Given the description of an element on the screen output the (x, y) to click on. 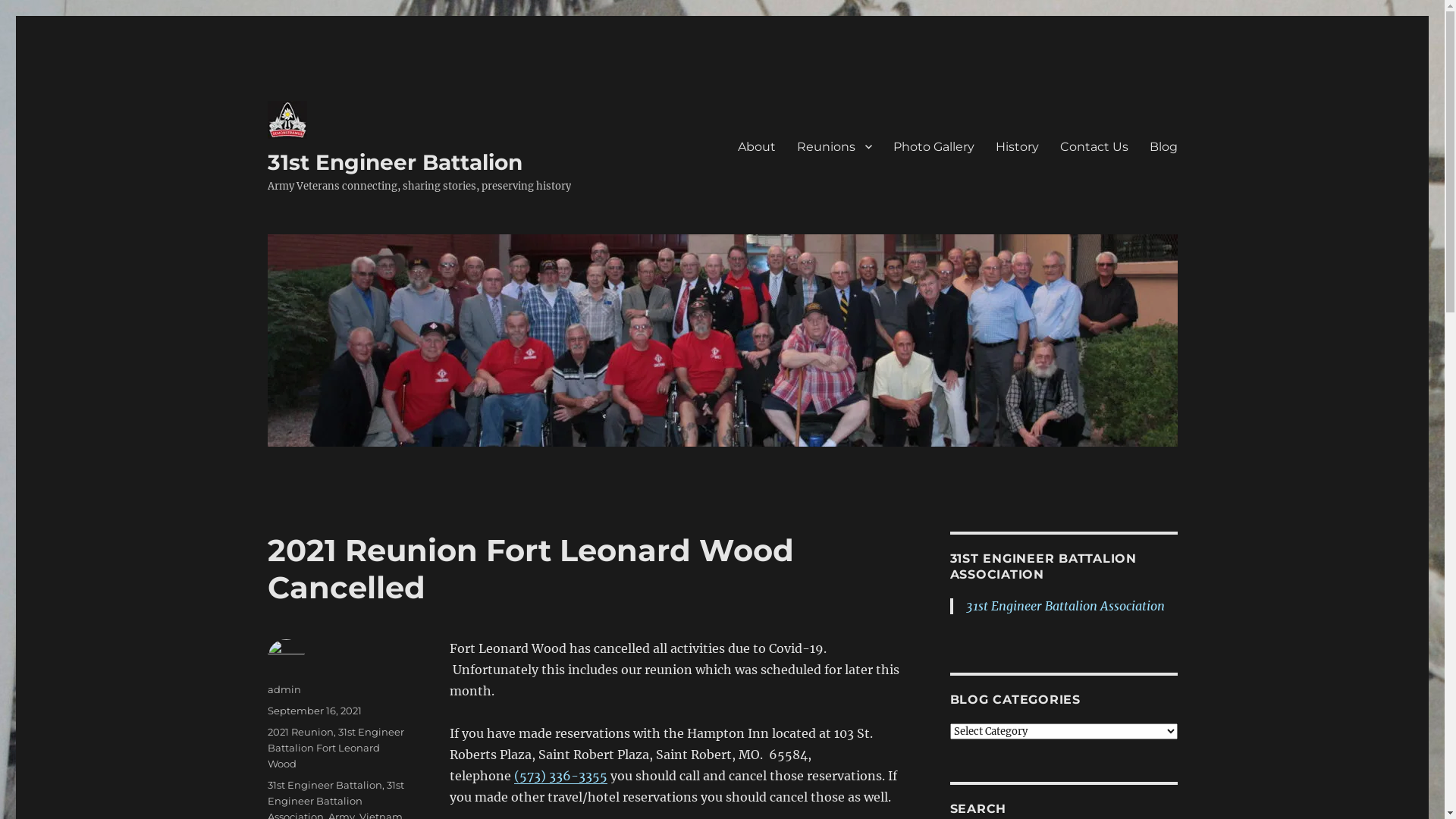
Photo Gallery Element type: text (933, 146)
31st Engineer Battalion Association Element type: text (1065, 605)
admin Element type: text (283, 689)
31ST ENGINEER BATTALION ASSOCIATION Element type: text (1042, 566)
Contact Us Element type: text (1094, 146)
2021 Reunion Element type: text (299, 731)
Blog Element type: text (1163, 146)
31st Engineer Battalion Element type: text (323, 784)
About Element type: text (755, 146)
31st Engineer Battalion Fort Leonard Wood Element type: text (334, 747)
31st Engineer Battalion Element type: text (393, 162)
(573) 336-3355 Element type: text (560, 775)
September 16, 2021 Element type: text (313, 710)
History Element type: text (1016, 146)
Reunions Element type: text (833, 146)
